Given the description of an element on the screen output the (x, y) to click on. 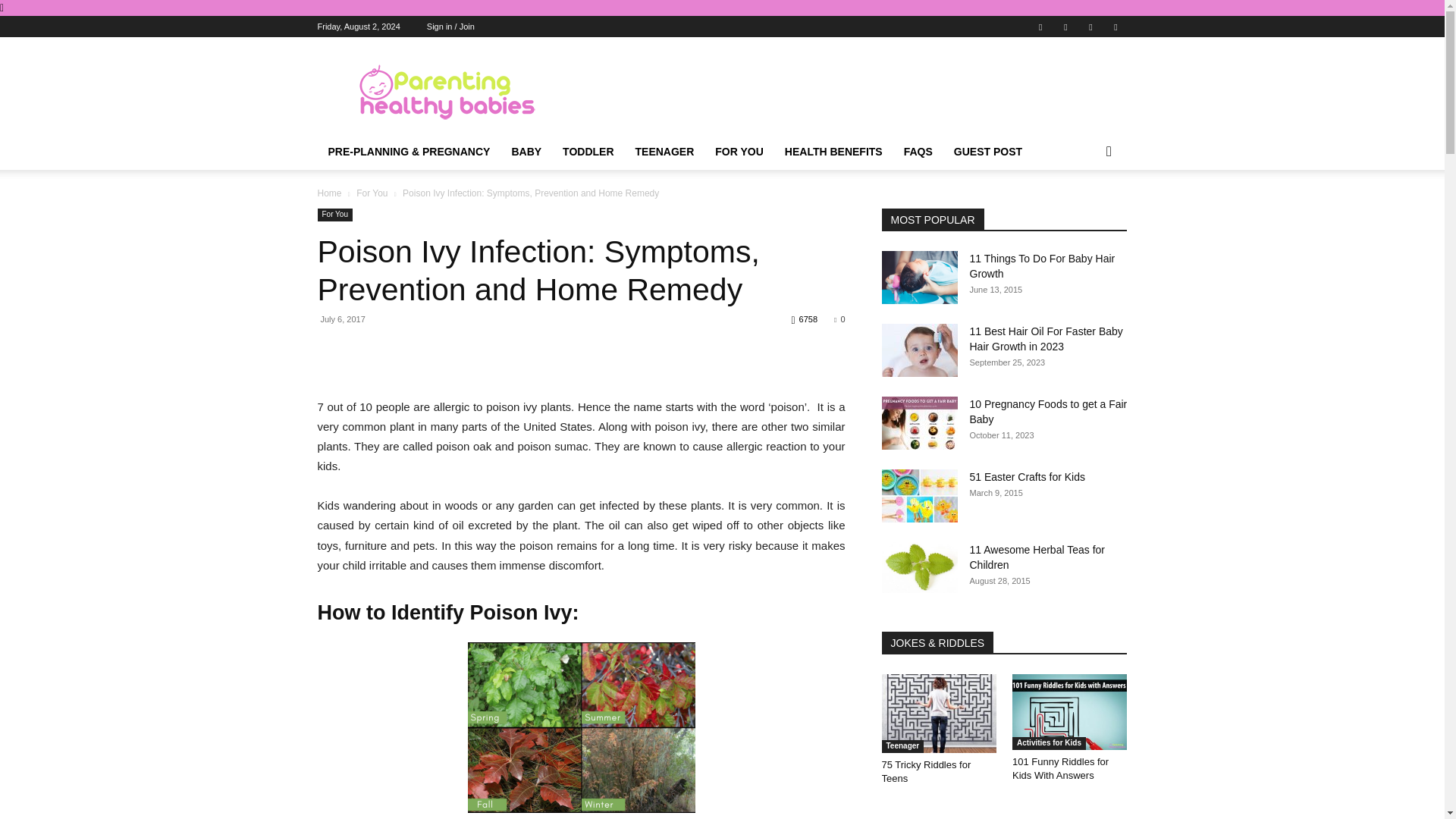
Twitter (1090, 25)
Home (328, 193)
Pinterest (1065, 25)
FOR YOU (739, 151)
FAQS (918, 151)
TODDLER (587, 151)
Search (1085, 211)
For You (371, 193)
View all posts in For You (371, 193)
Facebook (1040, 25)
TEENAGER (664, 151)
For You (334, 214)
HEALTH BENEFITS (833, 151)
BABY (525, 151)
GUEST POST (987, 151)
